Given the description of an element on the screen output the (x, y) to click on. 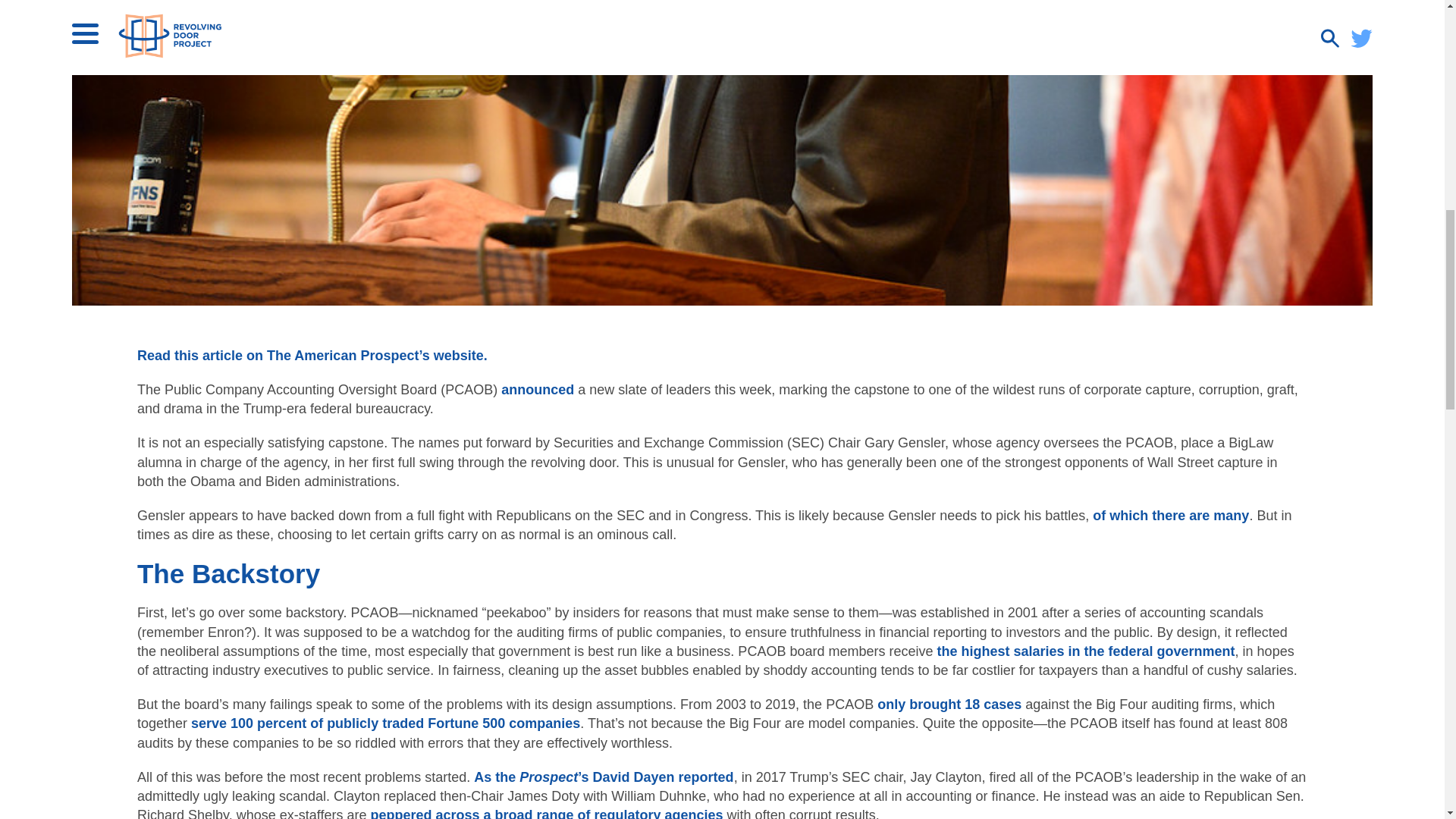
announced (536, 389)
the highest salaries in the federal government (1085, 651)
of which there are many (1171, 515)
